Given the description of an element on the screen output the (x, y) to click on. 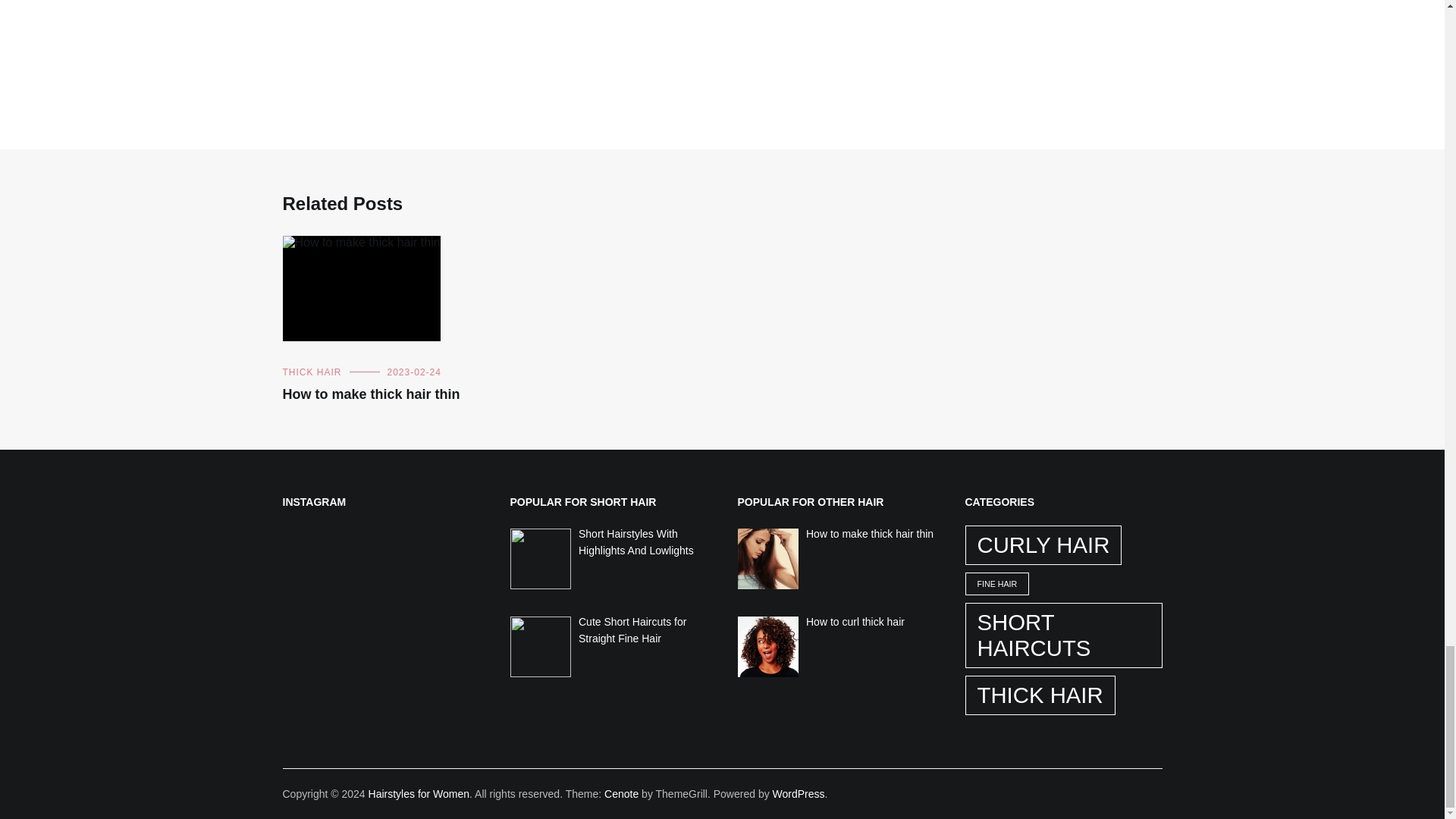
Hairstyles for Women (419, 793)
